Given the description of an element on the screen output the (x, y) to click on. 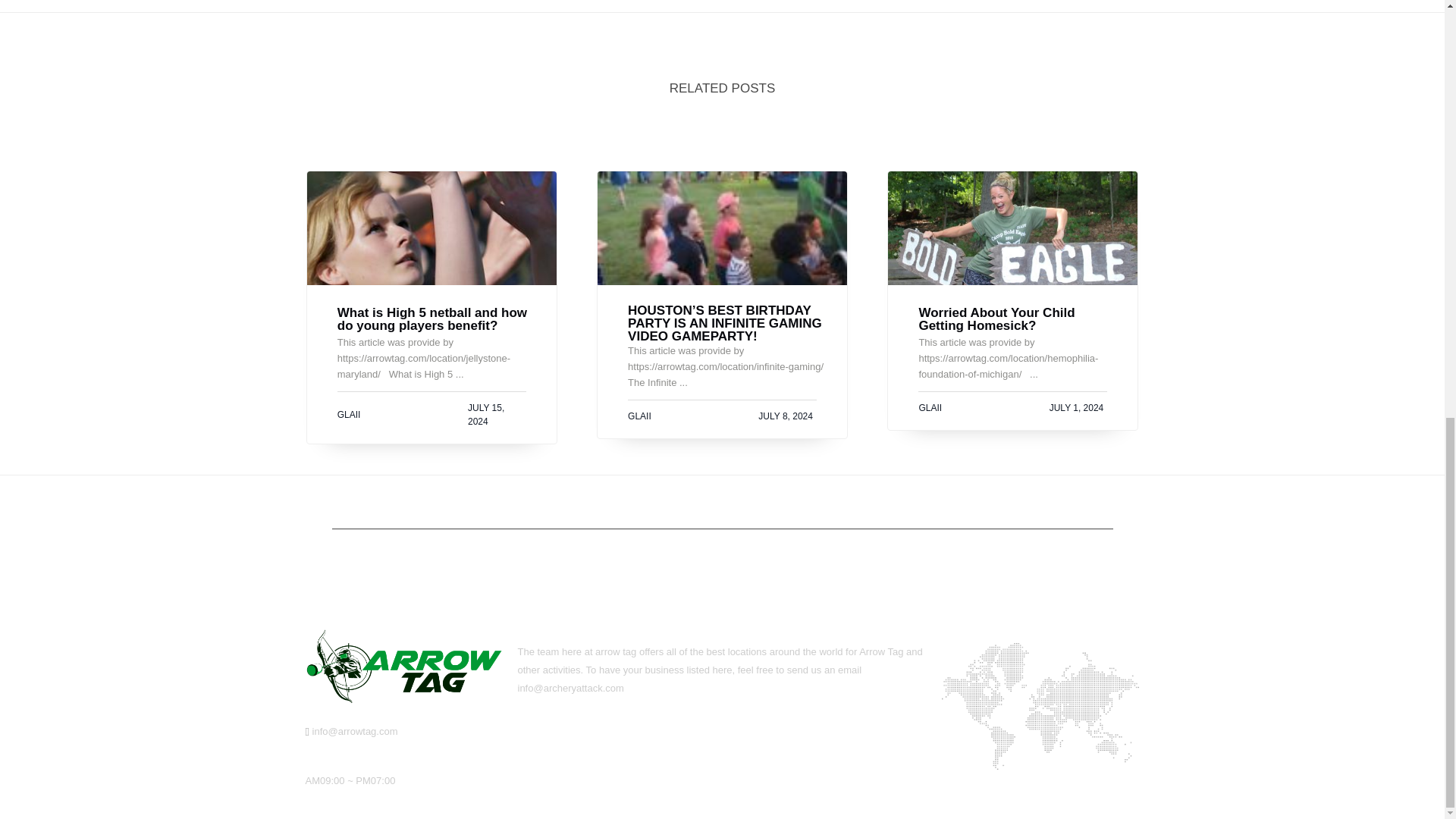
What is High 5 netball and how do young players benefit? (439, 319)
Worried About Your Child Getting Homesick? (1020, 319)
